Given the description of an element on the screen output the (x, y) to click on. 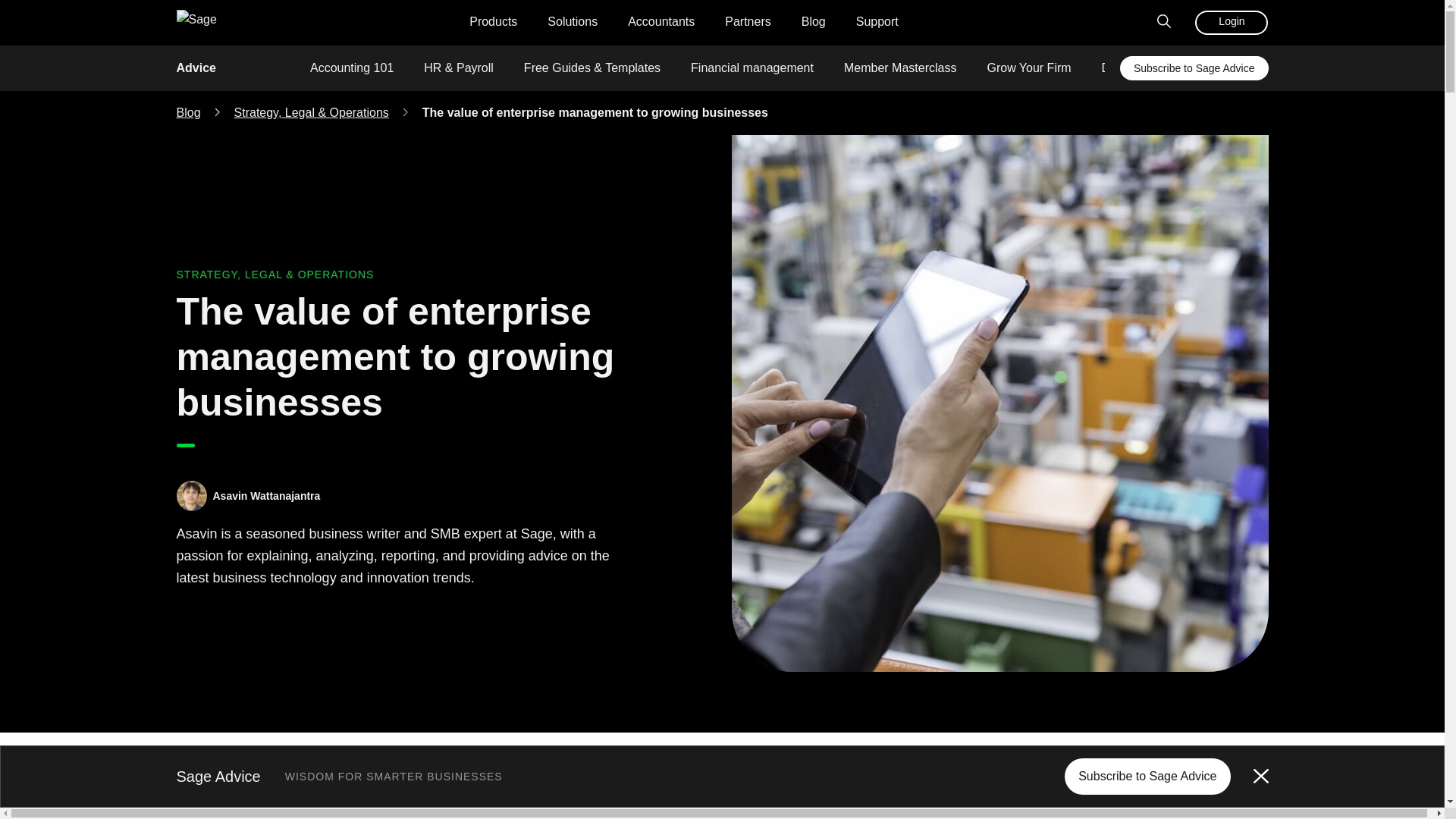
Products (492, 22)
Solutions (571, 22)
